Given the description of an element on the screen output the (x, y) to click on. 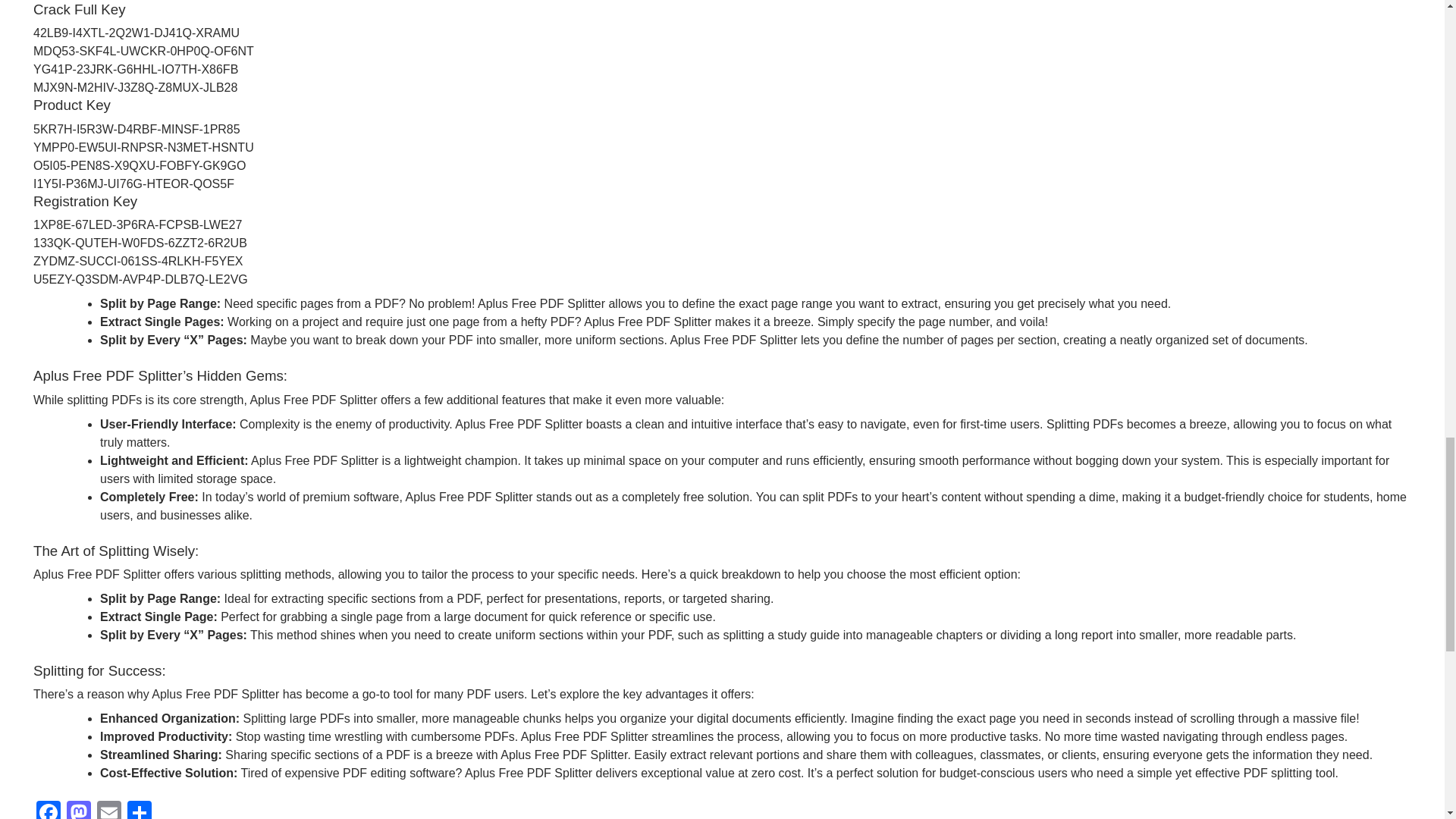
Facebook (48, 809)
Email (108, 809)
Email (108, 809)
Mastodon (79, 809)
Mastodon (79, 809)
Facebook (48, 809)
